Given the description of an element on the screen output the (x, y) to click on. 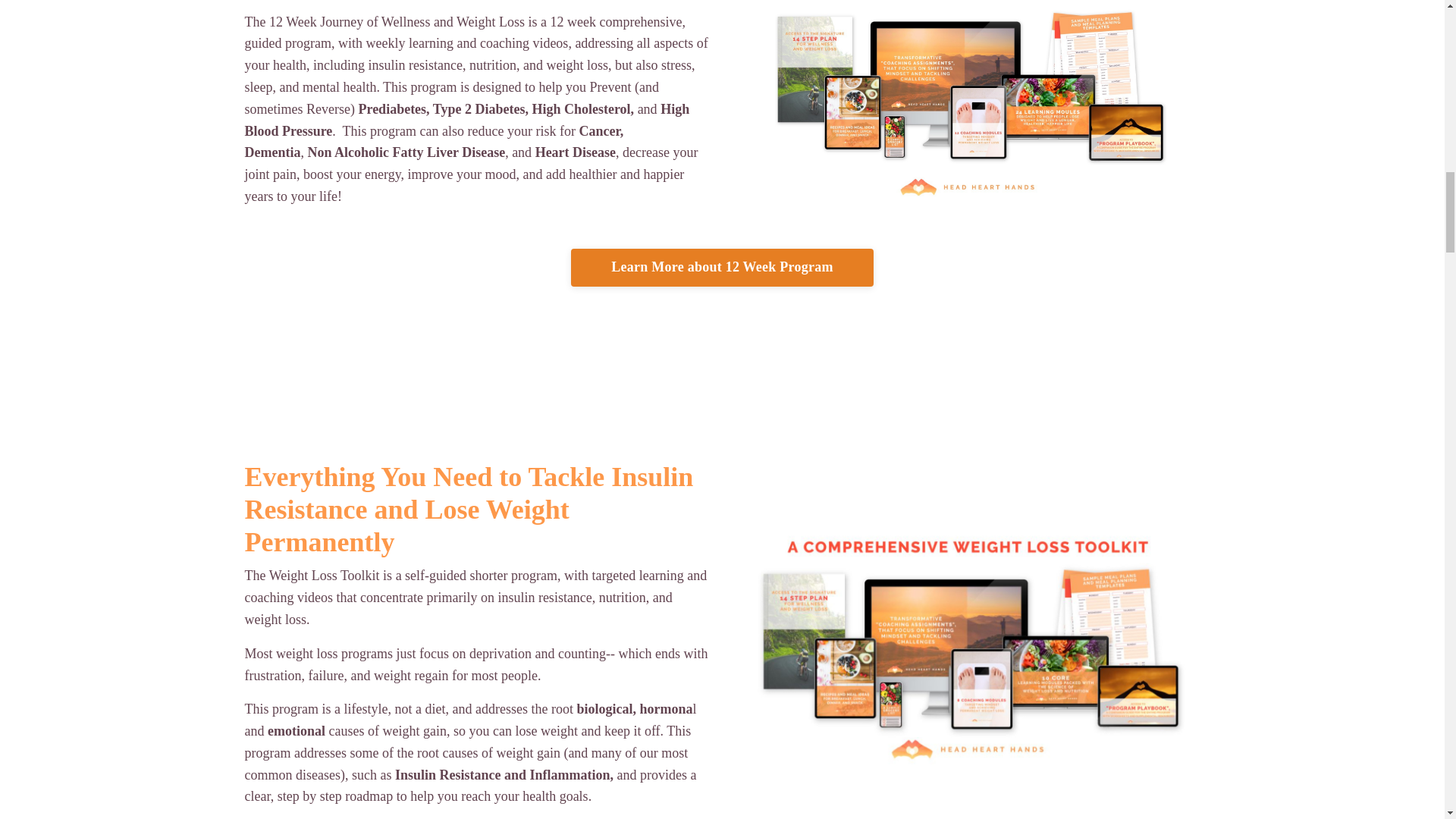
Learn More about 12 Week Program (721, 267)
